Given the description of an element on the screen output the (x, y) to click on. 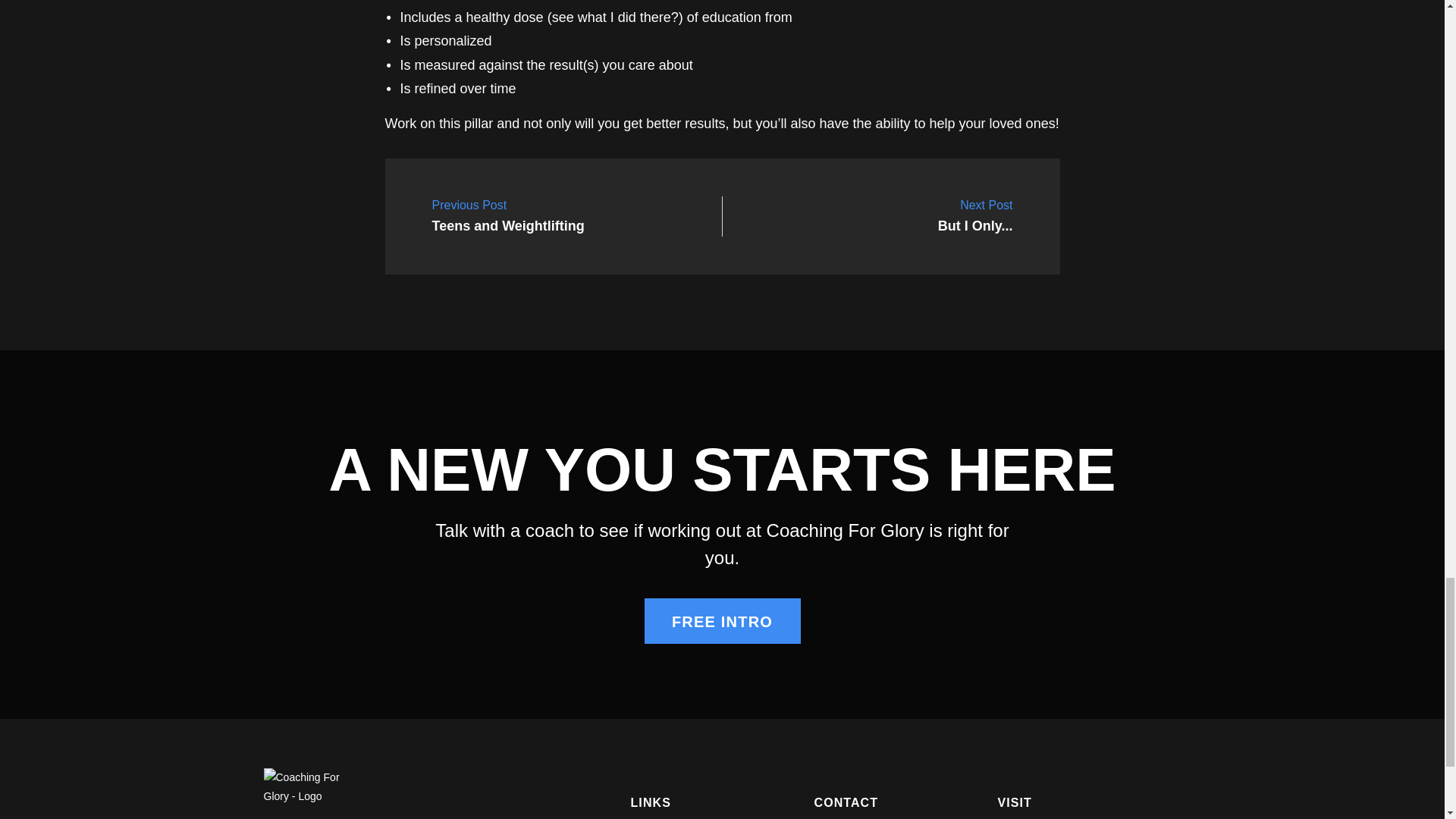
FREE INTRO (508, 216)
But I Only... (722, 620)
Teens and Weightlifting (975, 216)
